Given the description of an element on the screen output the (x, y) to click on. 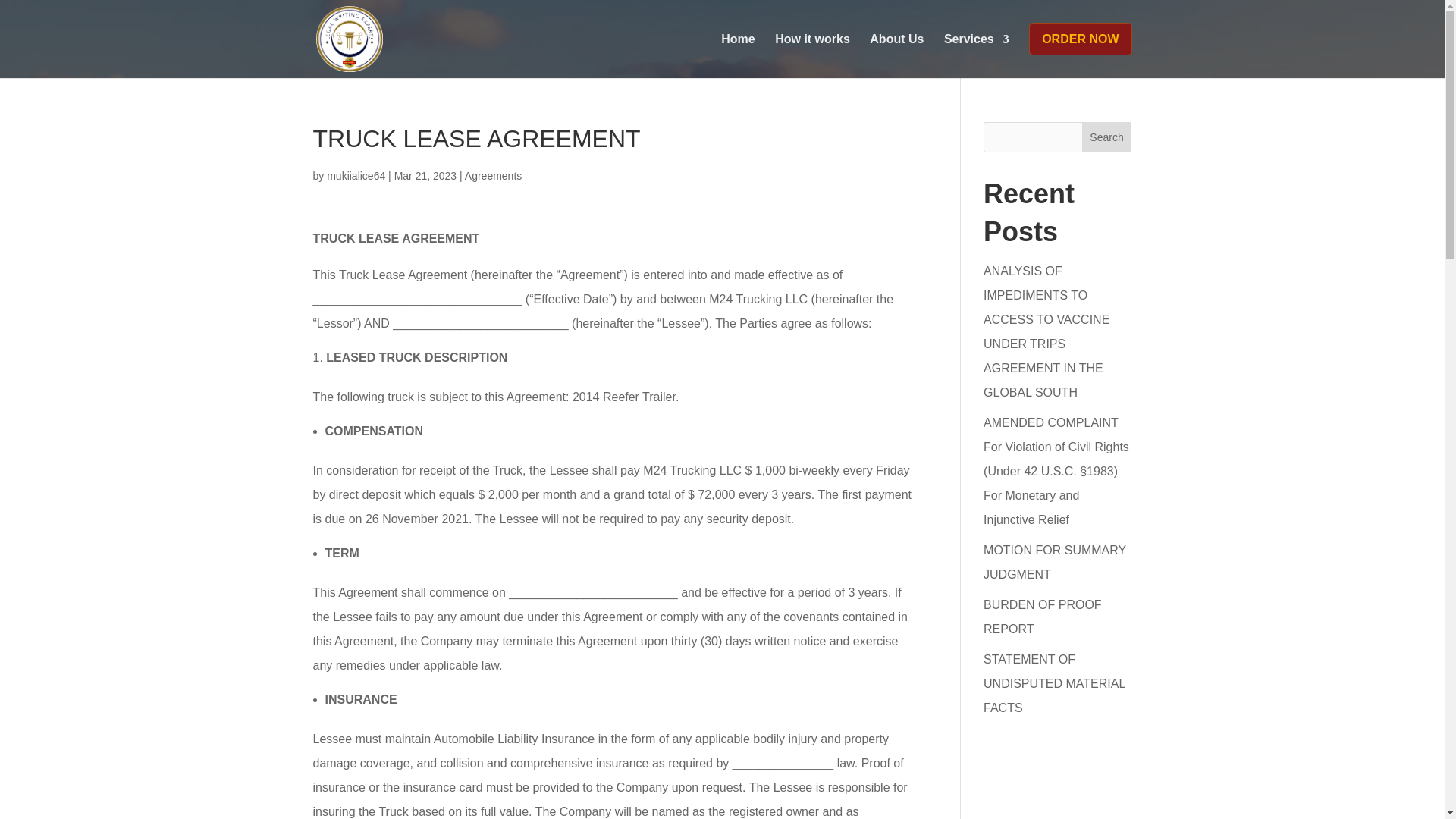
Agreements (492, 175)
Services (976, 50)
About Us (896, 50)
STATEMENT OF UNDISPUTED MATERIAL FACTS (1054, 683)
MOTION FOR SUMMARY JUDGMENT (1054, 561)
Home (737, 50)
ORDER NOW (1080, 49)
Search (1106, 137)
Posts by mukiialice64 (355, 175)
mukiialice64 (355, 175)
BURDEN OF PROOF REPORT (1043, 616)
How it works (812, 50)
